Given the description of an element on the screen output the (x, y) to click on. 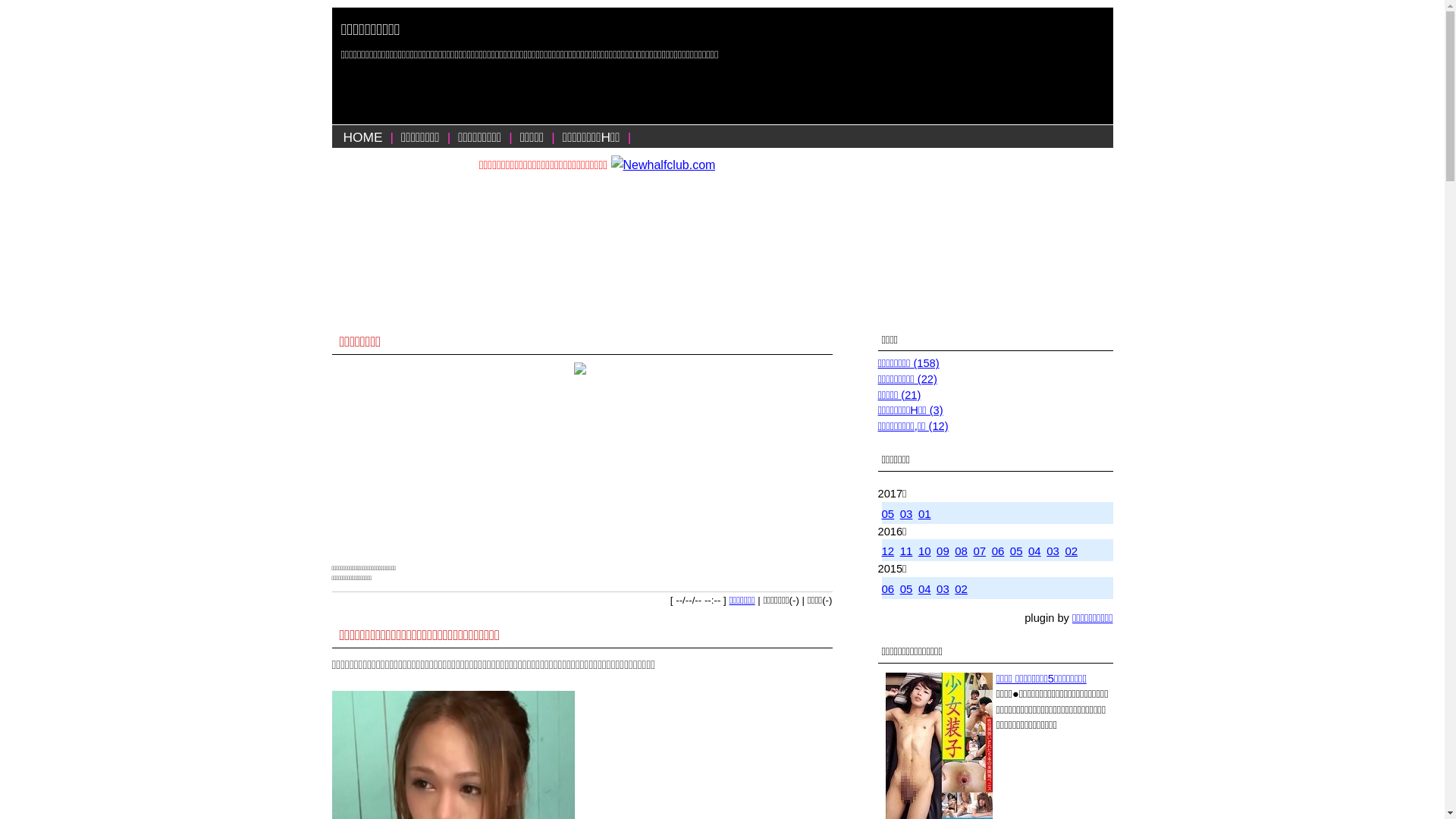
03 Element type: text (942, 588)
04 Element type: text (924, 588)
HOME Element type: text (362, 136)
05 Element type: text (1016, 550)
02 Element type: text (960, 588)
01 Element type: text (924, 513)
02 Element type: text (1070, 550)
06 Element type: text (887, 588)
08 Element type: text (960, 550)
07 Element type: text (978, 550)
05 Element type: text (906, 588)
05 Element type: text (887, 513)
09 Element type: text (942, 550)
12 Element type: text (887, 550)
03 Element type: text (906, 513)
11 Element type: text (906, 550)
03 Element type: text (1052, 550)
04 Element type: text (1034, 550)
10 Element type: text (924, 550)
06 Element type: text (997, 550)
